Given the description of an element on the screen output the (x, y) to click on. 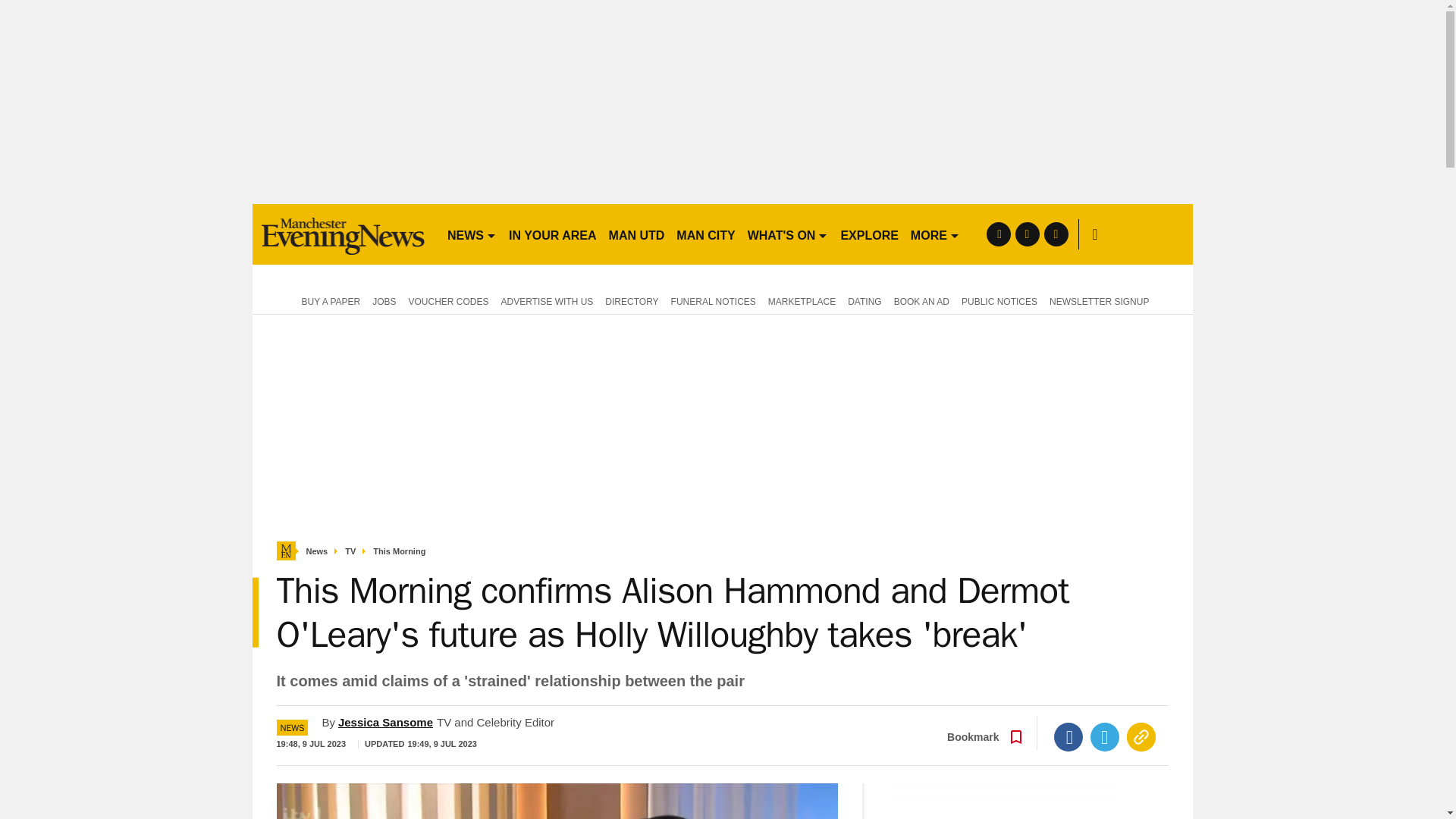
instagram (1055, 233)
Twitter (1104, 736)
twitter (1026, 233)
WHAT'S ON (787, 233)
MAN CITY (705, 233)
facebook (997, 233)
NEWS (471, 233)
MAN UTD (636, 233)
Facebook (1068, 736)
IN YOUR AREA (552, 233)
